Given the description of an element on the screen output the (x, y) to click on. 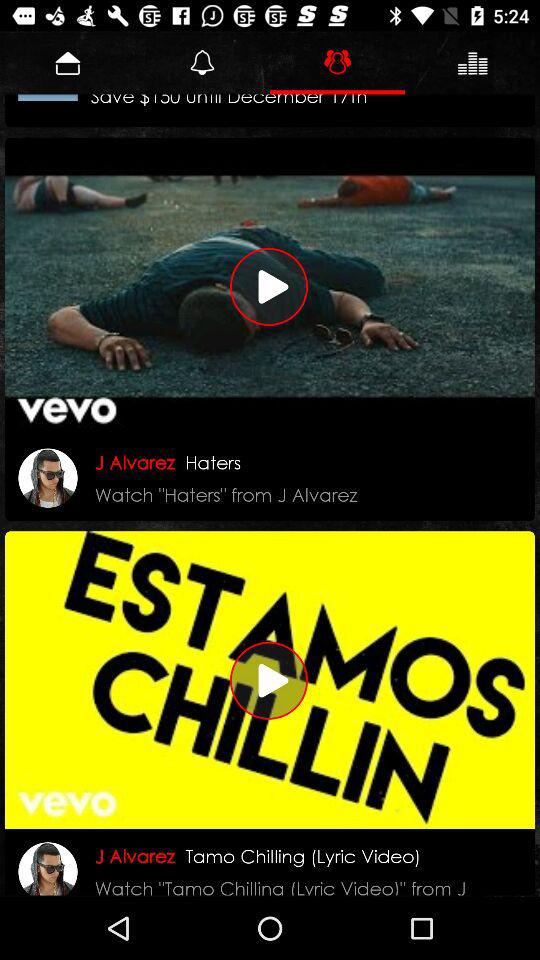
click on the third icon on the top (337, 62)
